Given the description of an element on the screen output the (x, y) to click on. 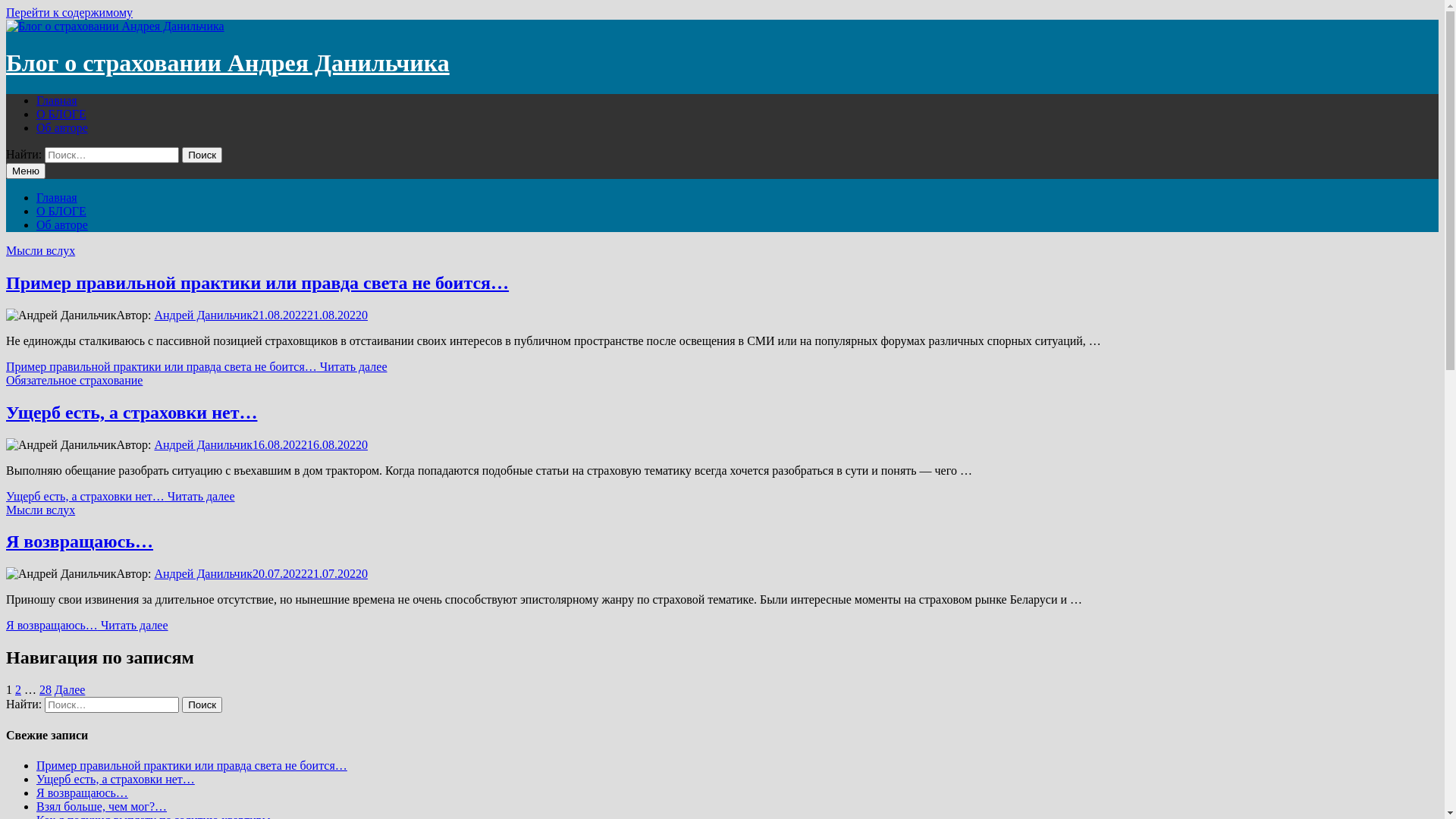
20.07.202221.07.2022 Element type: text (306, 573)
0 Element type: text (364, 573)
0 Element type: text (364, 314)
2 Element type: text (18, 689)
0 Element type: text (364, 444)
16.08.202216.08.2022 Element type: text (306, 444)
28 Element type: text (45, 689)
21.08.202221.08.2022 Element type: text (306, 314)
